Given the description of an element on the screen output the (x, y) to click on. 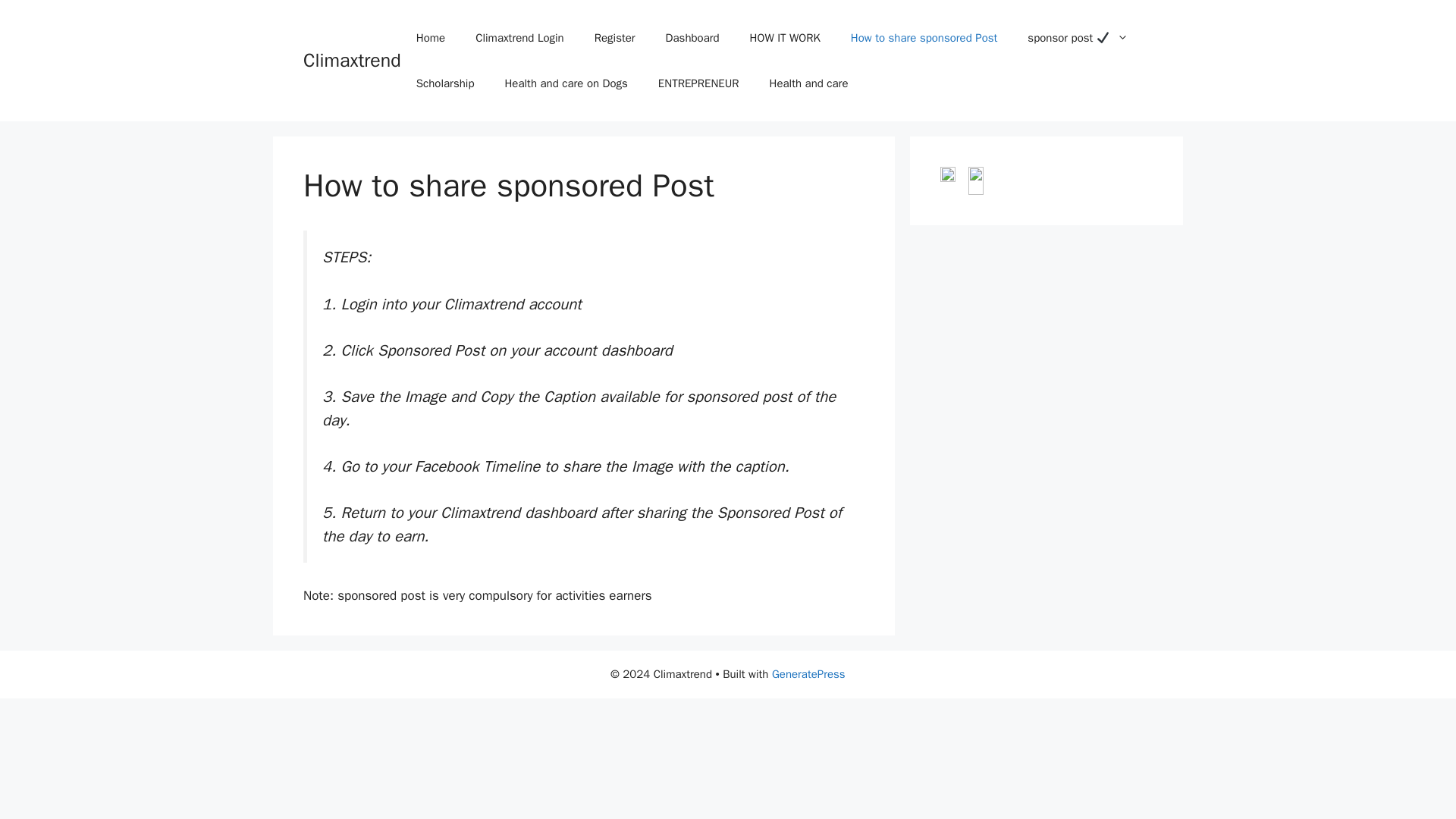
Dashboard (692, 37)
Register (614, 37)
Climaxtrend (351, 60)
Health and care (808, 83)
sponsor post (1076, 37)
HOW IT WORK (785, 37)
ENTREPRENEUR (698, 83)
How to share sponsored Post (924, 37)
GeneratePress (808, 673)
Scholarship (445, 83)
Health and care on Dogs (565, 83)
Home (430, 37)
Climaxtrend Login (519, 37)
